Given the description of an element on the screen output the (x, y) to click on. 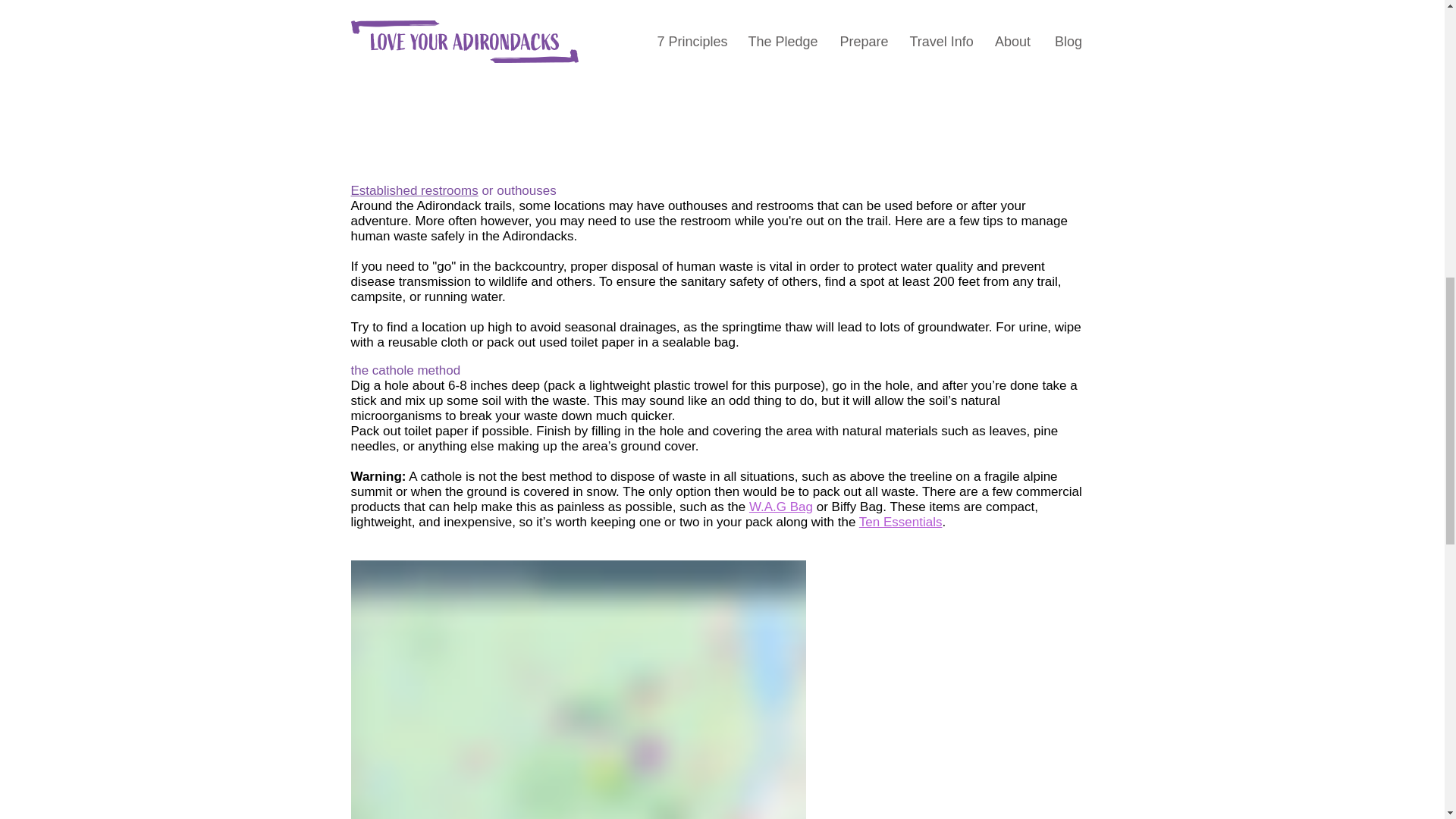
Established restrooms (413, 190)
Ten Essentials (900, 522)
W.A.G Bag (780, 506)
